Given the description of an element on the screen output the (x, y) to click on. 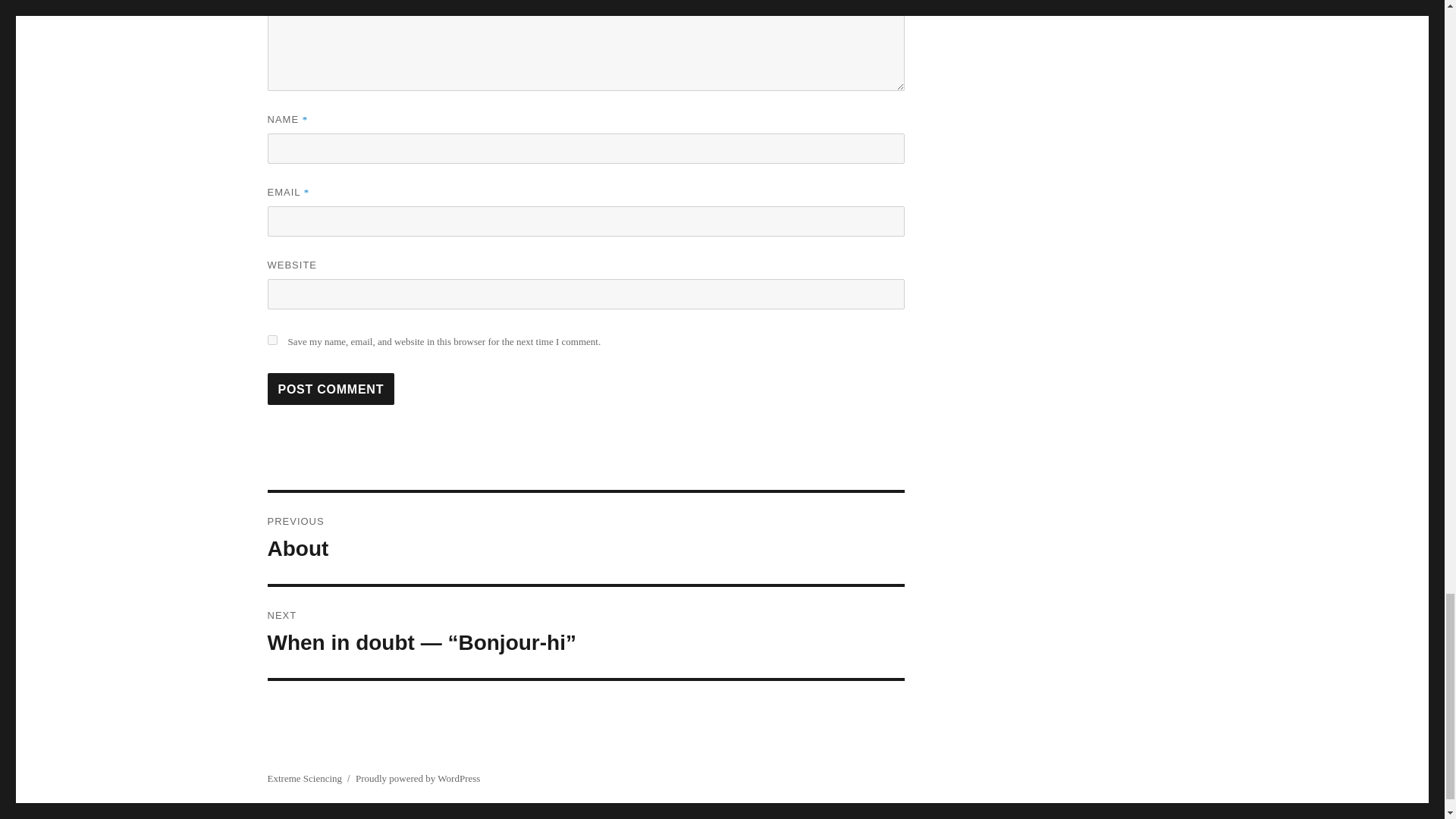
Post Comment (330, 388)
Post Comment (585, 538)
yes (330, 388)
